Given the description of an element on the screen output the (x, y) to click on. 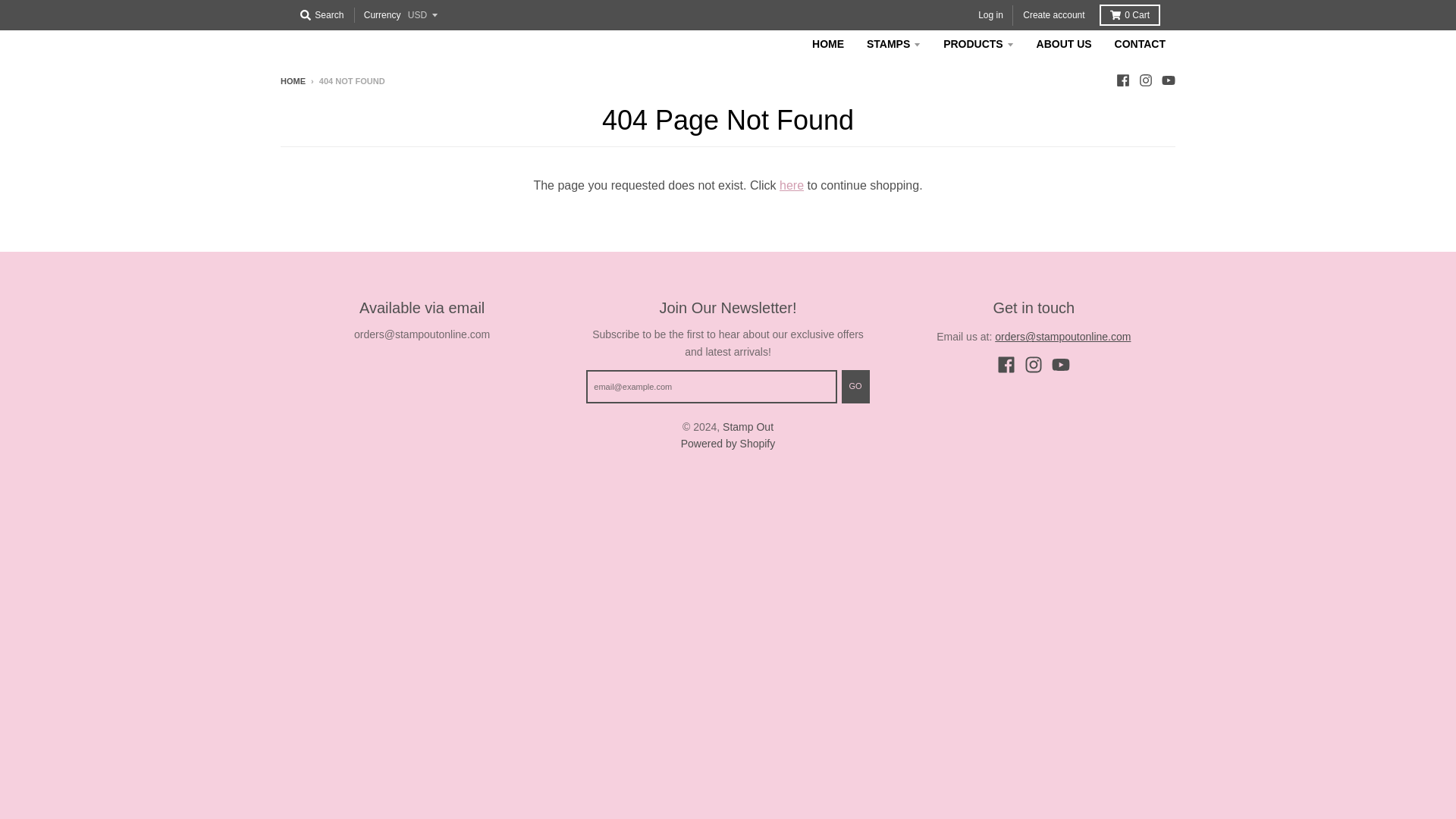
Create account (1053, 14)
YouTube - Stamp Out (1167, 79)
STAMPS (893, 43)
Instagram - Stamp Out (1145, 79)
CONTACT (1139, 43)
Search (321, 14)
0 Cart (1129, 14)
YouTube - Stamp Out (1060, 364)
Instagram - Stamp Out (1033, 364)
Facebook - Stamp Out (1005, 364)
